Given the description of an element on the screen output the (x, y) to click on. 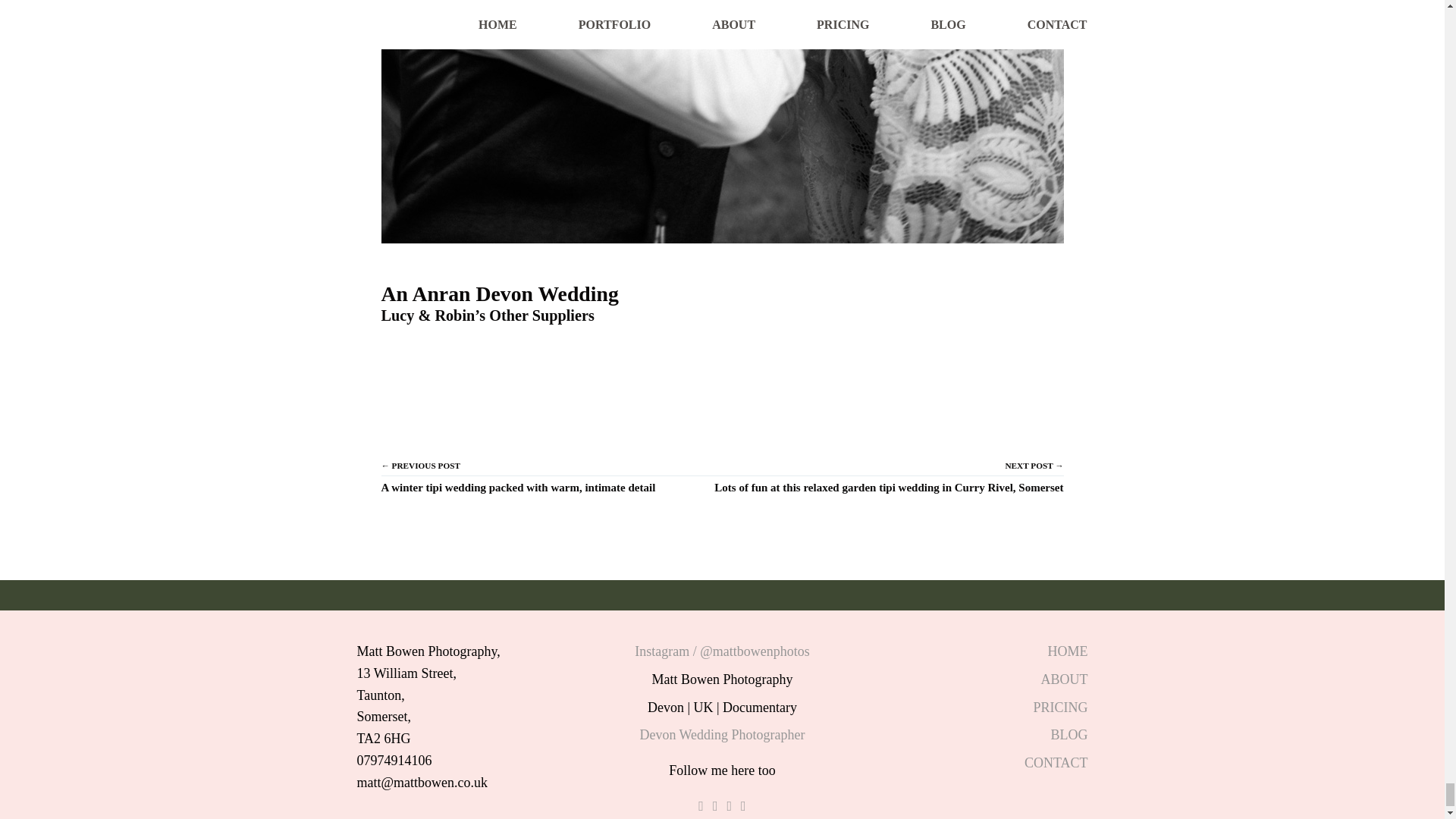
Devon Wedding Photographer (722, 734)
ABOUT (1064, 679)
BLOG (1069, 734)
HOME (1067, 651)
PRICING (1059, 707)
CONTACT (1056, 762)
